Given the description of an element on the screen output the (x, y) to click on. 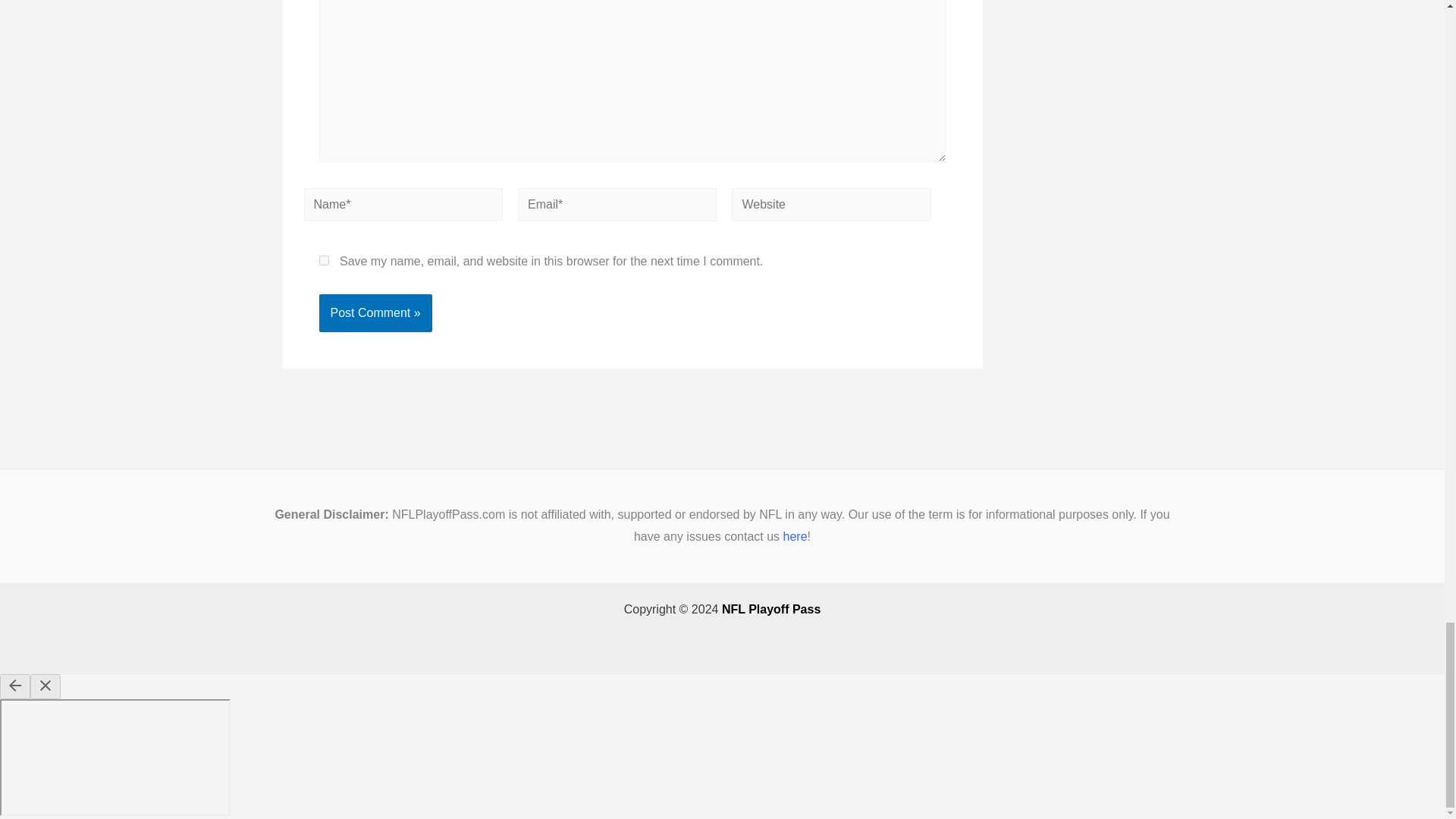
yes (323, 260)
